Given the description of an element on the screen output the (x, y) to click on. 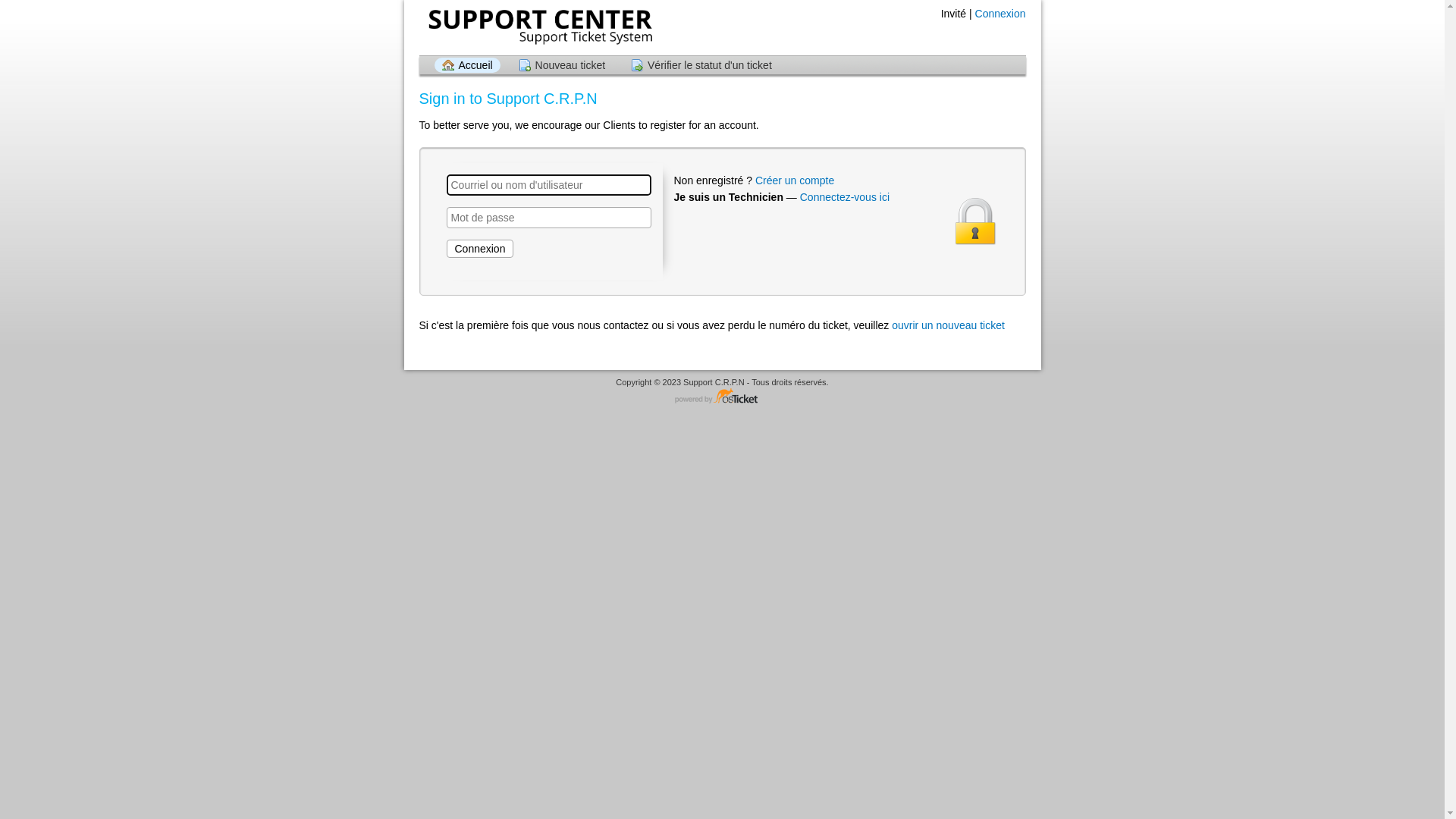
Centre de support Element type: hover (538, 26)
Nouveau ticket Element type: text (562, 64)
ouvrir un nouveau ticket Element type: text (947, 325)
Accueil Element type: text (466, 64)
Connexion Element type: text (479, 248)
Connexion Element type: text (1000, 13)
Connectez-vous ici Element type: text (844, 197)
